Given the description of an element on the screen output the (x, y) to click on. 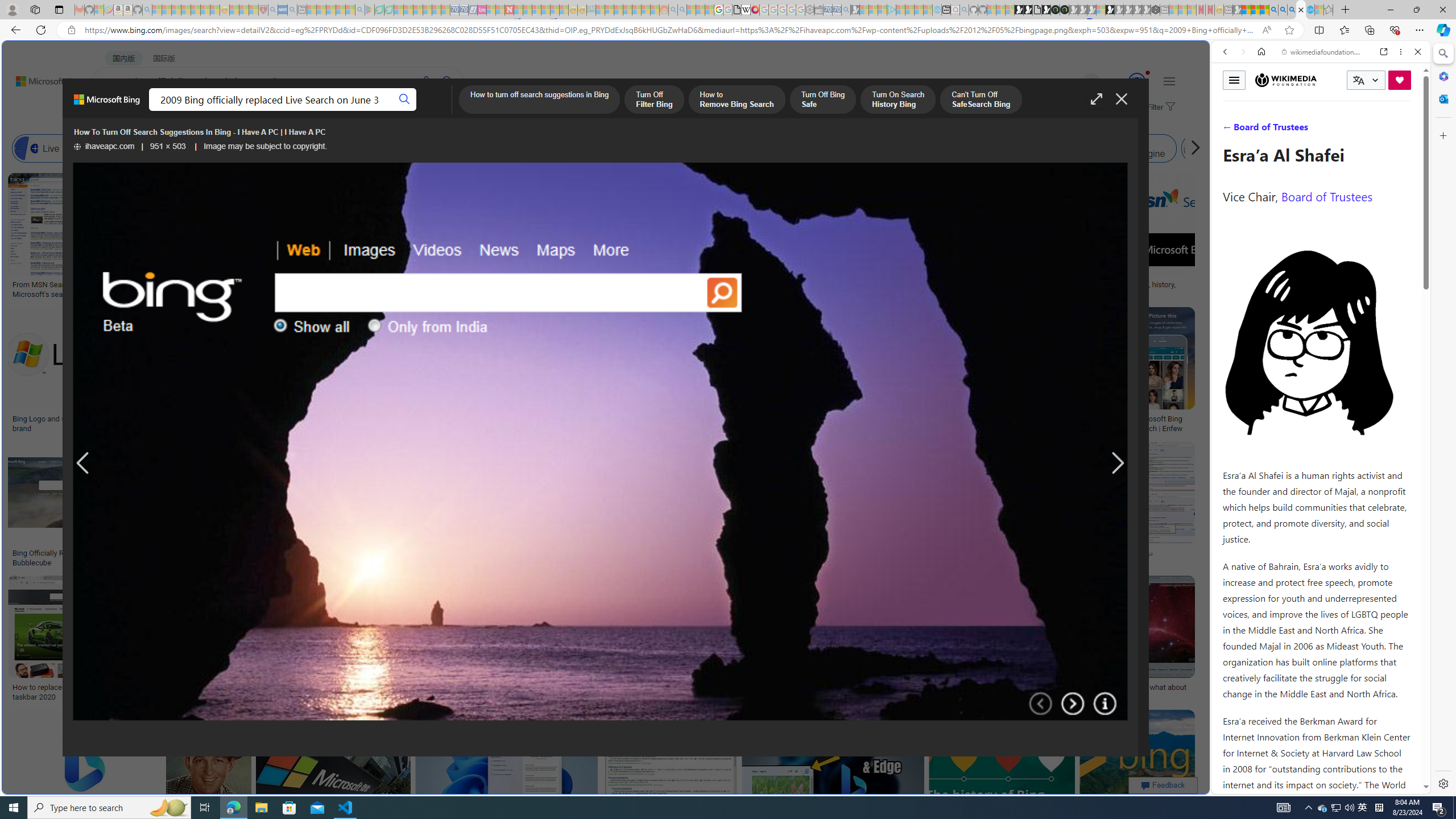
Owner of Bing Search Engine (1067, 148)
MSN Homepage Bing Search Engine (767, 148)
Home | Sky Blue Bikes - Sky Blue Bikes (1118, 242)
Eugene (1074, 81)
Full screen (1096, 99)
Services - Maintenance | Sky Blue Bikes - Sky Blue Bikes (1309, 9)
Tabs you've opened (885, 151)
